Given the description of an element on the screen output the (x, y) to click on. 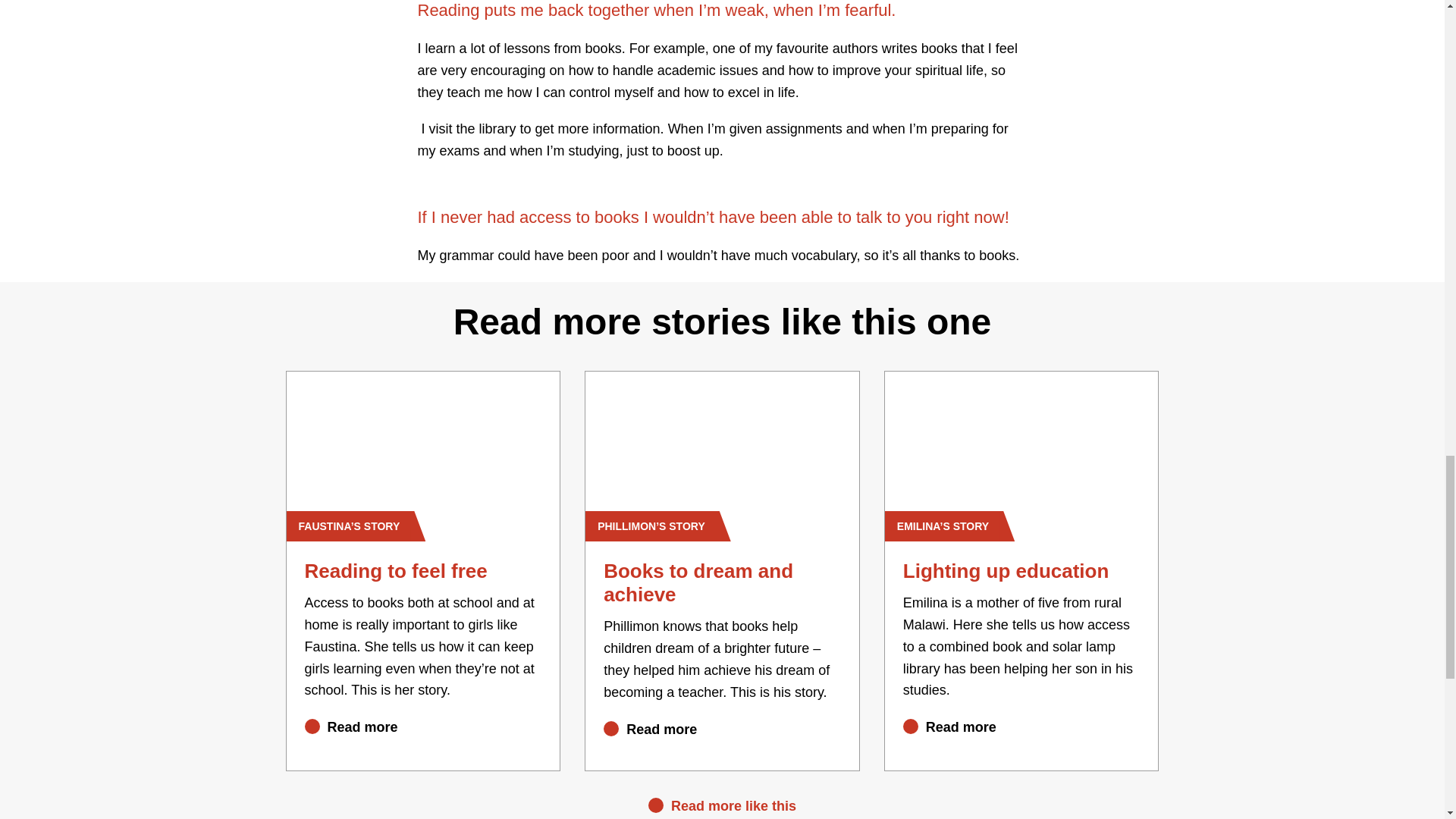
Reading to feel free (395, 570)
Lighting up education (1005, 570)
Books to dream and achieve (698, 582)
